Given the description of an element on the screen output the (x, y) to click on. 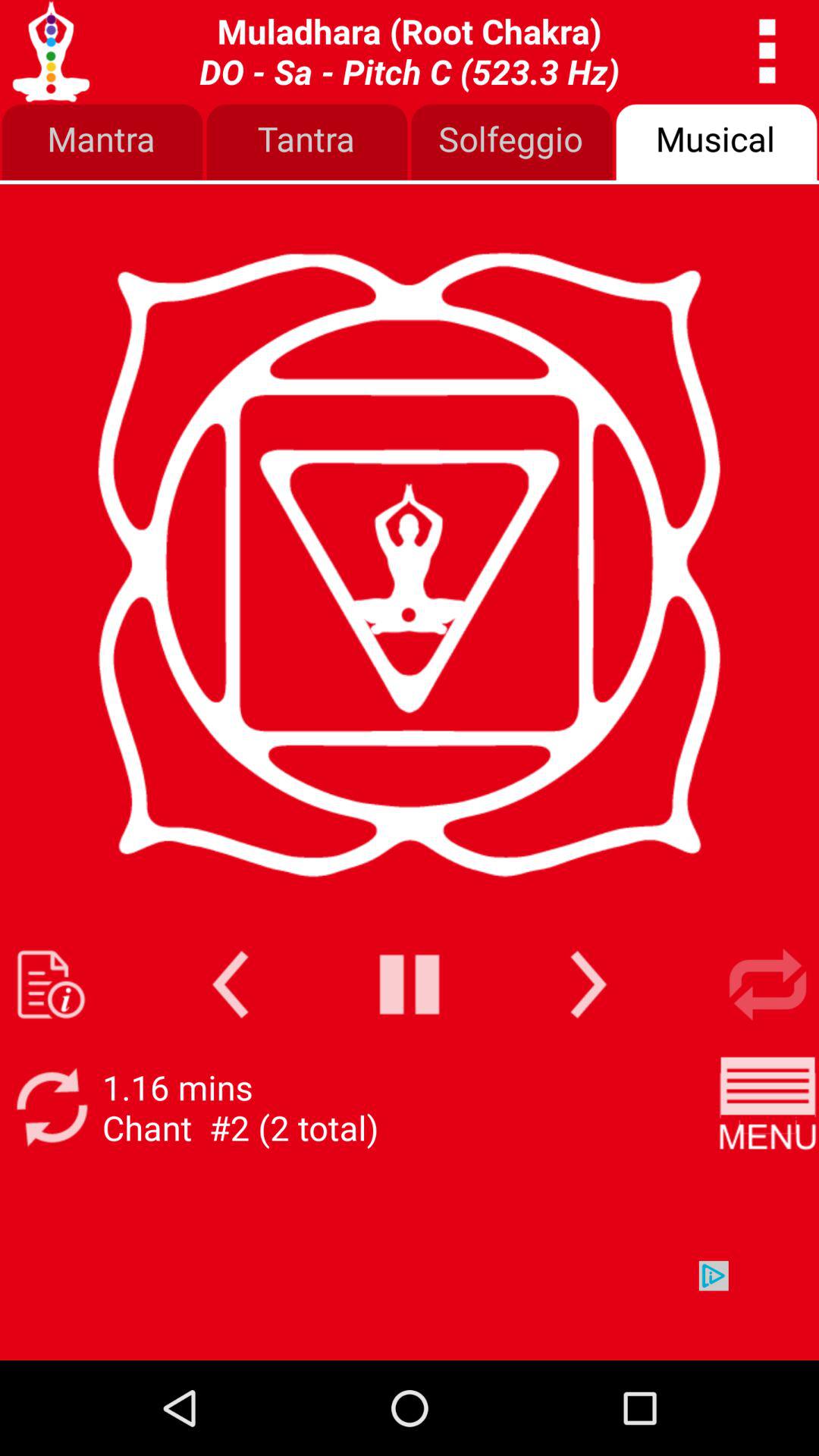
open item next to tantra button (102, 143)
